Given the description of an element on the screen output the (x, y) to click on. 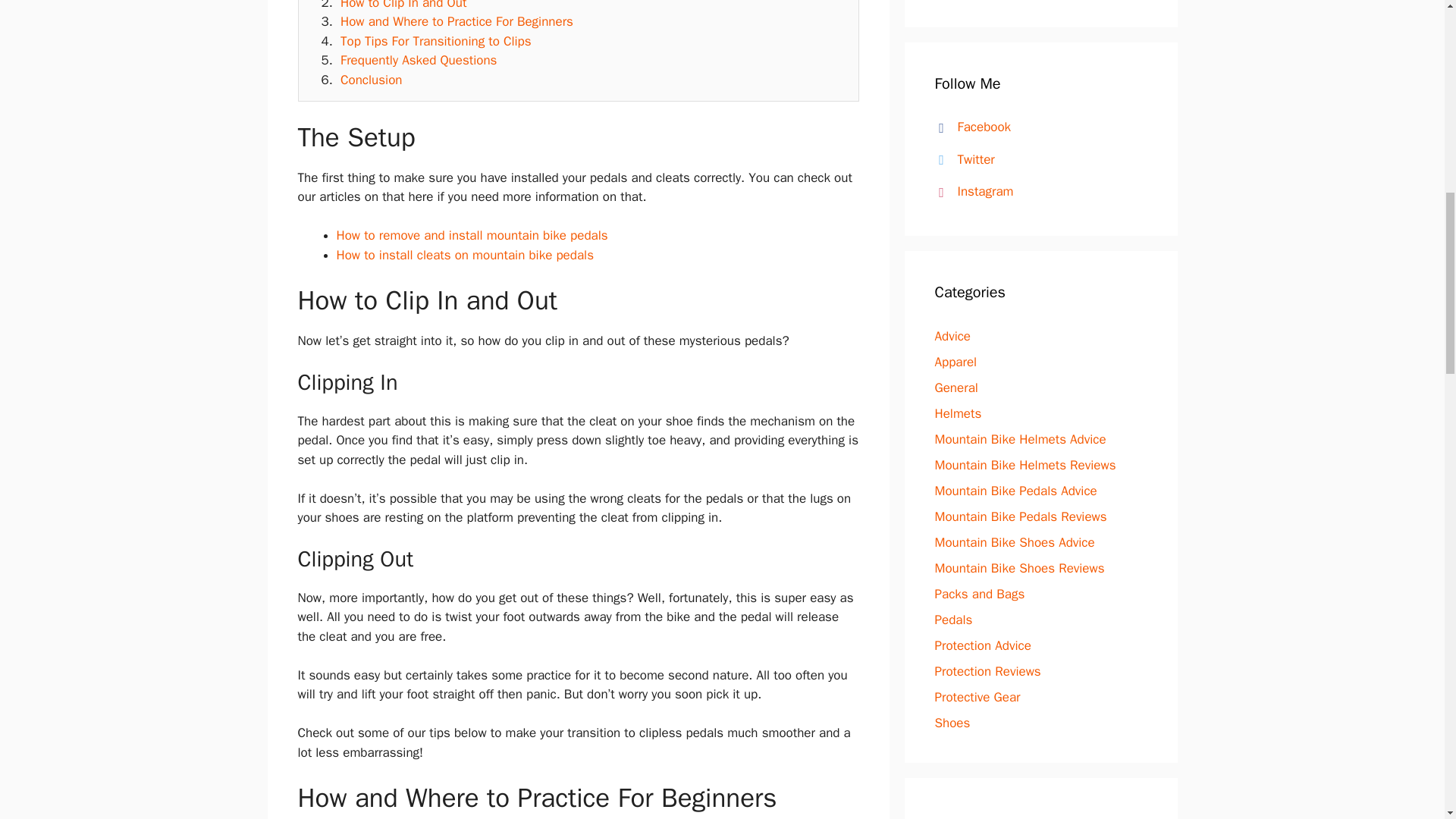
Top Tips For Transitioning to Clips (435, 41)
Twitter (961, 159)
Instagram (970, 191)
How and Where to Practice For Beginners (456, 21)
Helmets (957, 413)
Advice (952, 335)
How to Clip In and Out (402, 5)
Conclusion (370, 79)
Twitter (961, 159)
Mountain Bike Pedals Advice (1015, 490)
Facebook (969, 126)
How to Install SPD Cleats on Mountain Bike Shoes (465, 254)
How to install cleats on mountain bike pedals (465, 254)
Instagram (970, 191)
Facebook (969, 126)
